Given the description of an element on the screen output the (x, y) to click on. 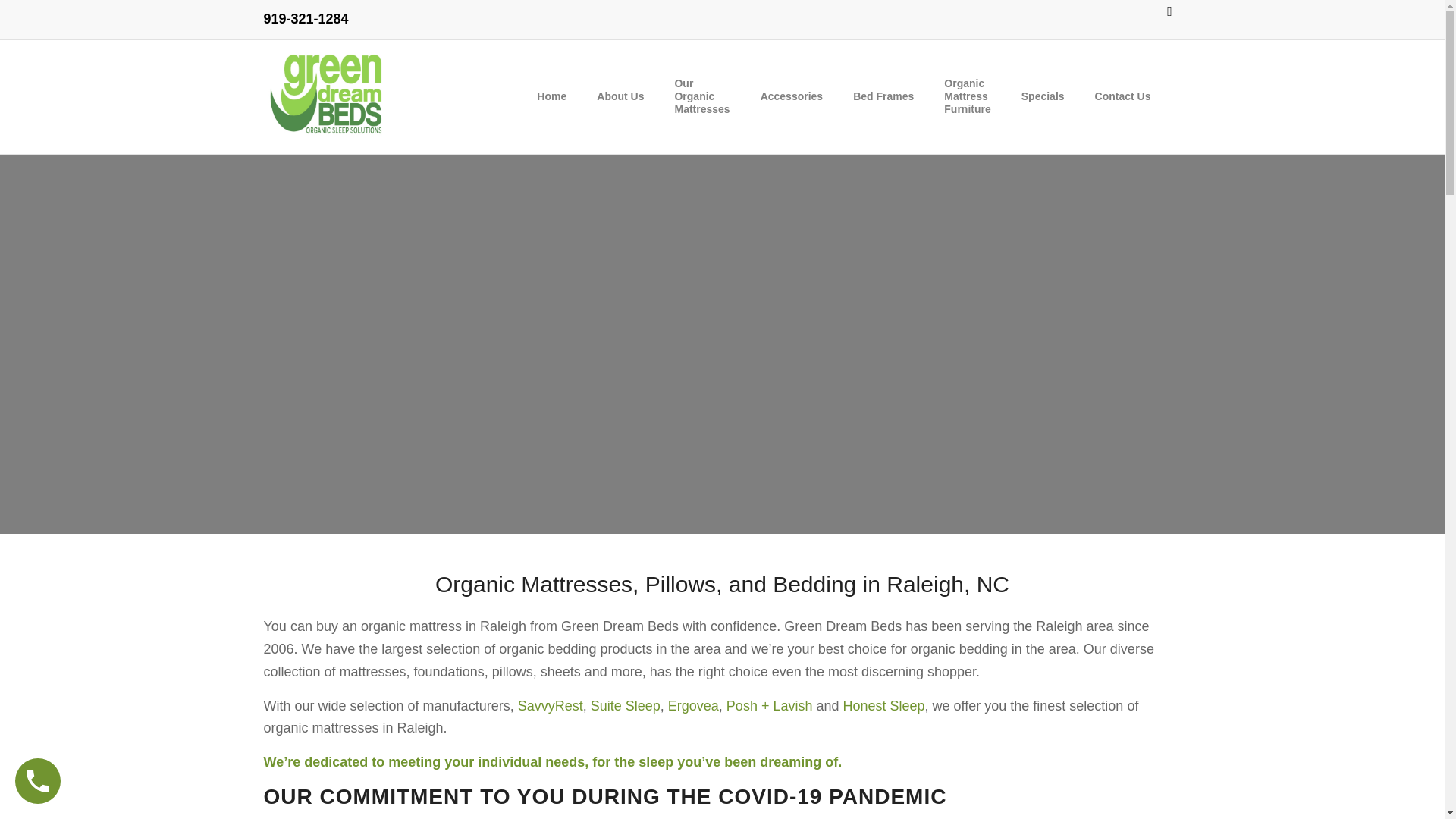
Honest Sleep (883, 705)
new-logo (327, 96)
new-logo (327, 96)
Sleep (641, 705)
Suite (606, 705)
SavvyRest (550, 705)
Facebook (1169, 11)
Ergovea (693, 705)
